Given the description of an element on the screen output the (x, y) to click on. 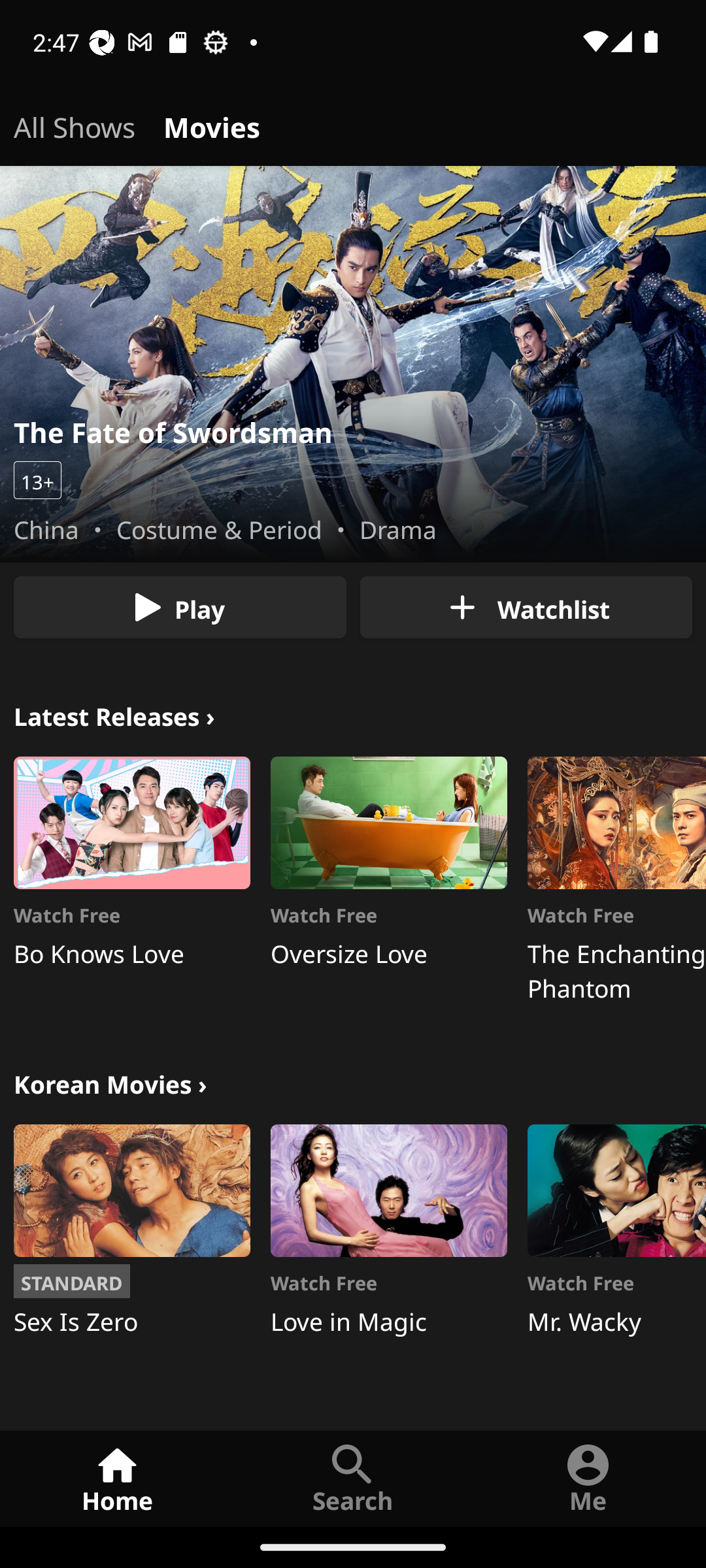
home_tab_all_shows All Shows (74, 124)
Play home_billboard_play_button (179, 607)
Watchlist home_billboard_add_to_watchlist_button (526, 607)
Latest Releases › latest_releases_movies (114, 714)
Korean Movies › korean_movies_trending (110, 1082)
Search (352, 1478)
Me (588, 1478)
